Given the description of an element on the screen output the (x, y) to click on. 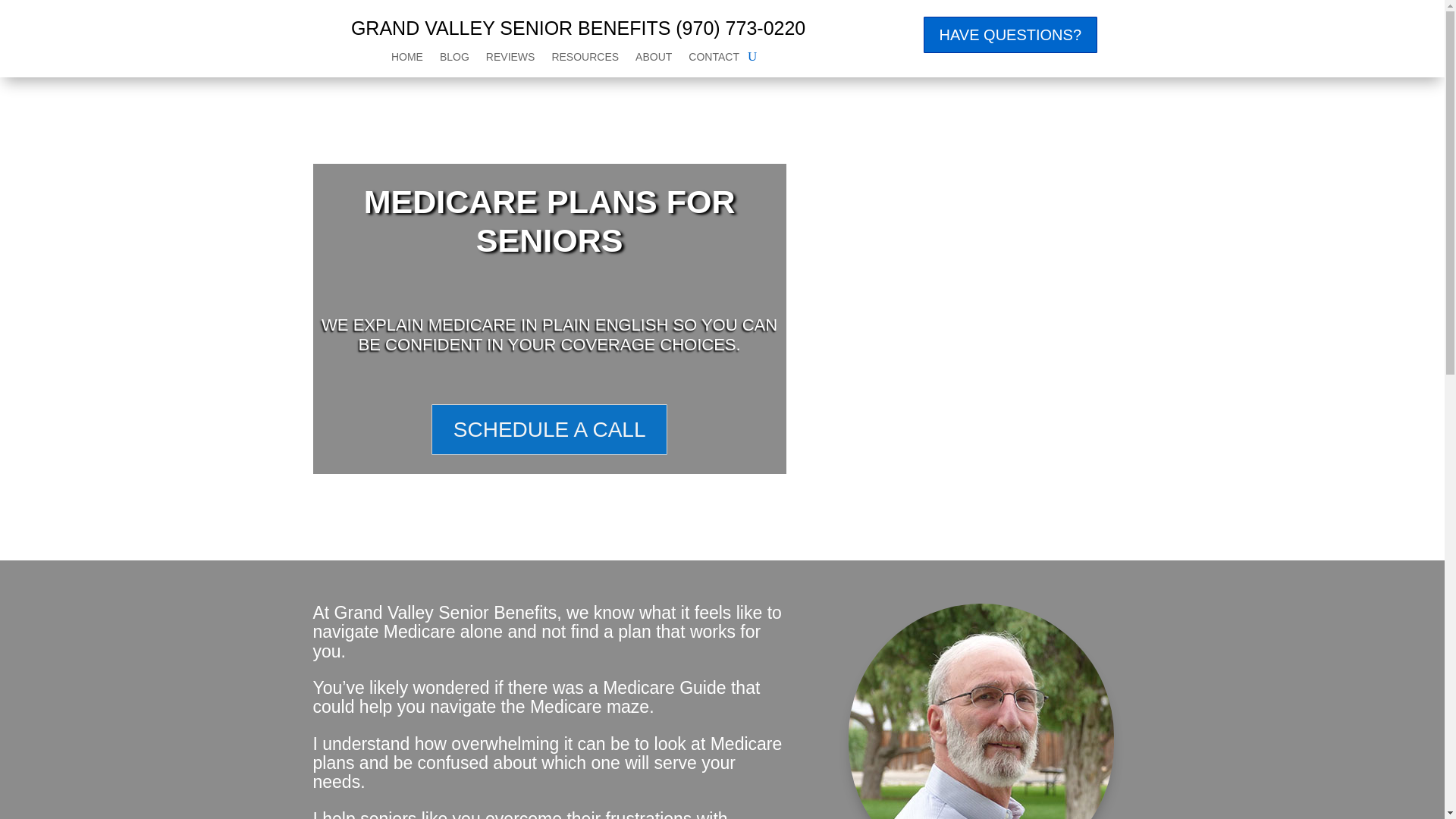
CONTACT (713, 59)
SCHEDULE A CALL (549, 429)
Medicare Insurance Resources (584, 59)
GRAND VALLEY SENIOR BENEFITS (509, 27)
Posts from my Blog (453, 59)
HAVE QUESTIONS? (1010, 34)
Contact Lew Barr (713, 59)
BLOG (453, 59)
REVIEWS (510, 59)
RESOURCES (584, 59)
